Given the description of an element on the screen output the (x, y) to click on. 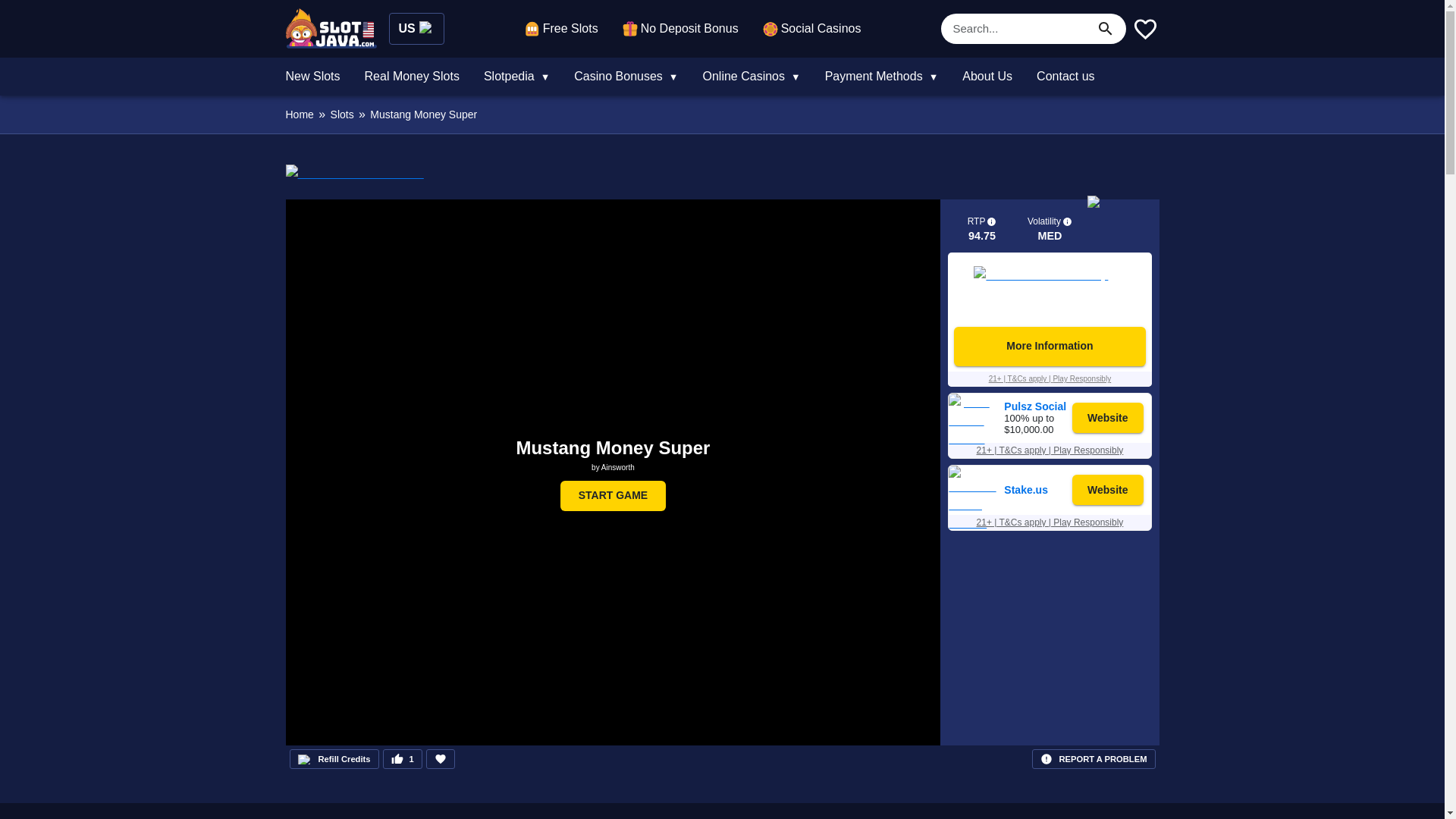
Contact us (1065, 76)
No Deposit Bonus (680, 28)
Social Casinos (811, 28)
About Us (987, 76)
New Slots (312, 76)
Slotjava.com (330, 28)
Free Slots (561, 28)
Pulsz Social logo (973, 438)
Stake.us logo (973, 540)
US (416, 29)
Real Money Slots (411, 76)
